Given the description of an element on the screen output the (x, y) to click on. 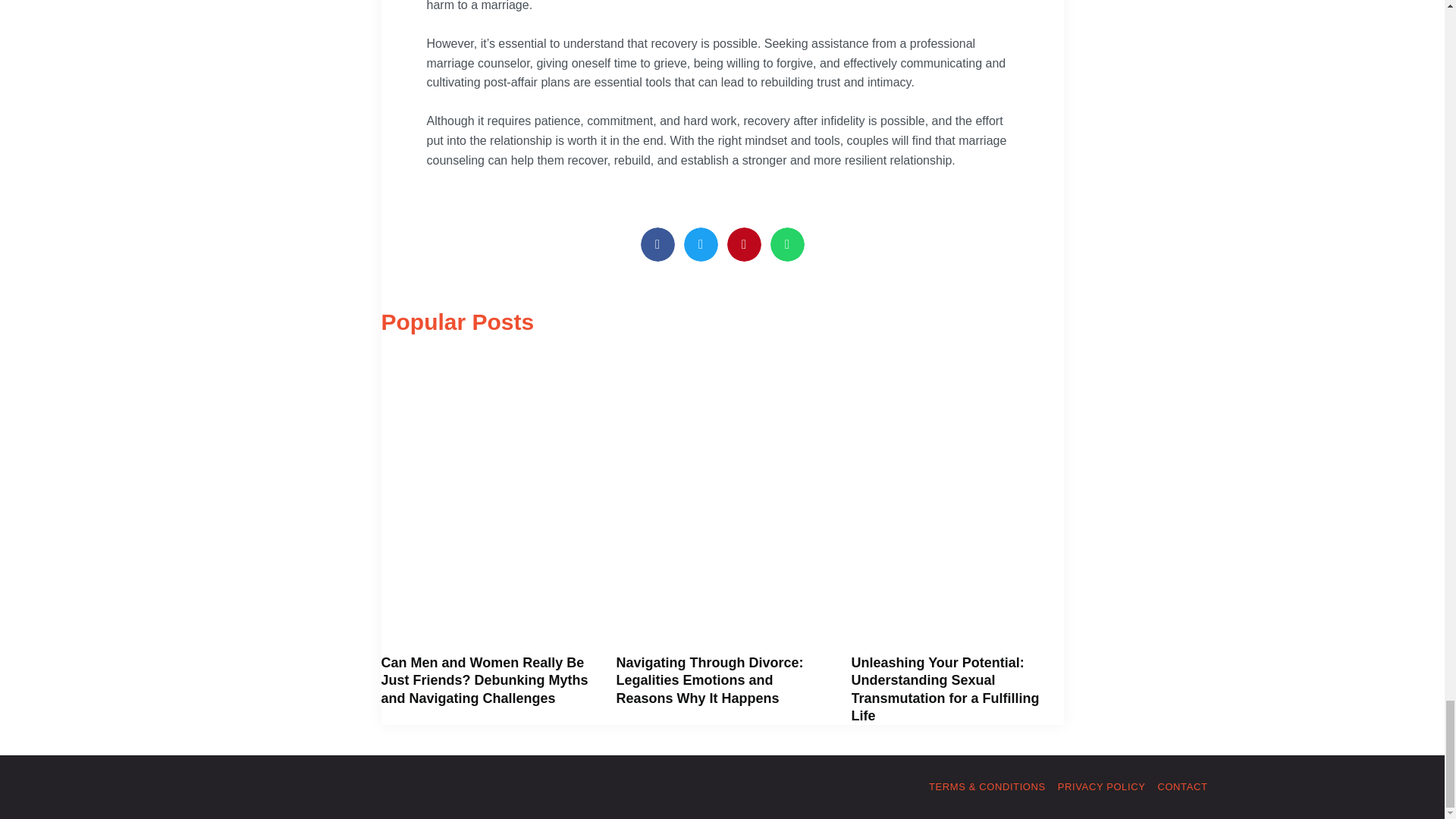
PRIVACY POLICY (1101, 786)
CONTACT (1182, 786)
